Given the description of an element on the screen output the (x, y) to click on. 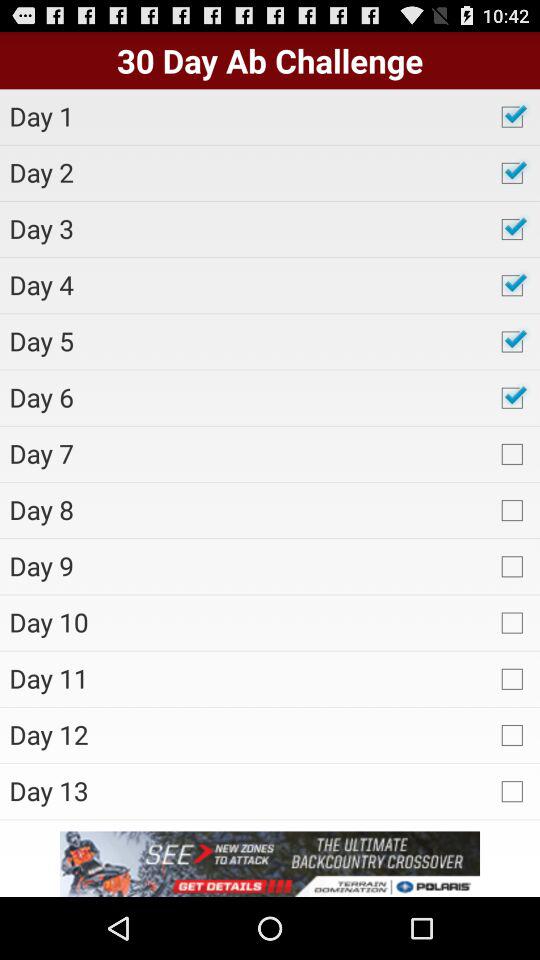
select the check box for text day 4 (511, 285)
select the box which is next to day 8 (511, 509)
select the check box which is after day 13 (511, 791)
select first check box which is after day 1 (511, 117)
click on the selected option to the right of day 5 (511, 341)
